Given the description of an element on the screen output the (x, y) to click on. 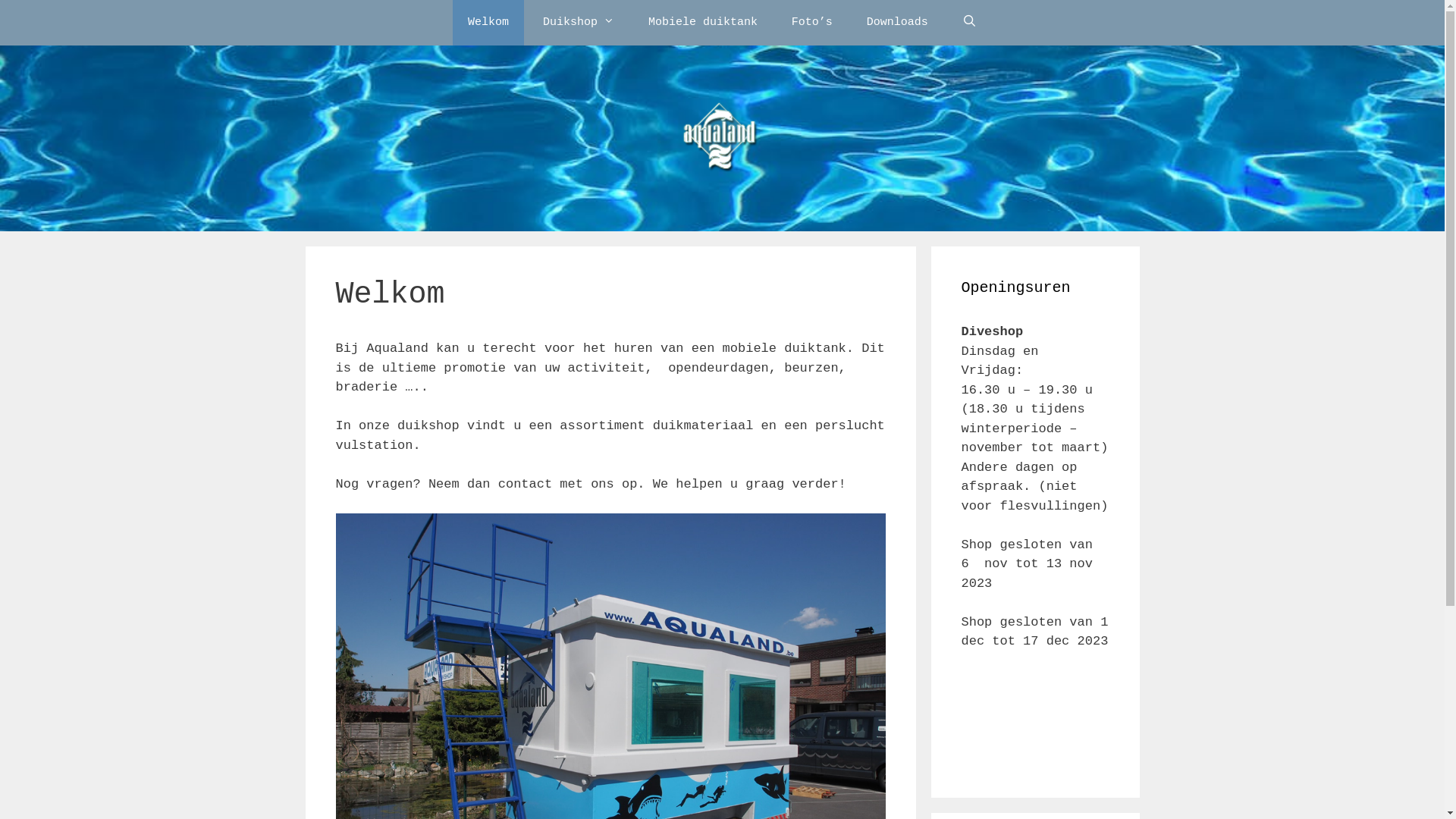
Downloads Element type: text (897, 22)
Spring naar inhoud Element type: text (0, 0)
Mobiele duiktank Element type: text (702, 22)
Aqualand Element type: hover (722, 138)
Aqualand Element type: hover (722, 138)
Welkom Element type: text (488, 22)
Duikshop Element type: text (578, 22)
